Given the description of an element on the screen output the (x, y) to click on. 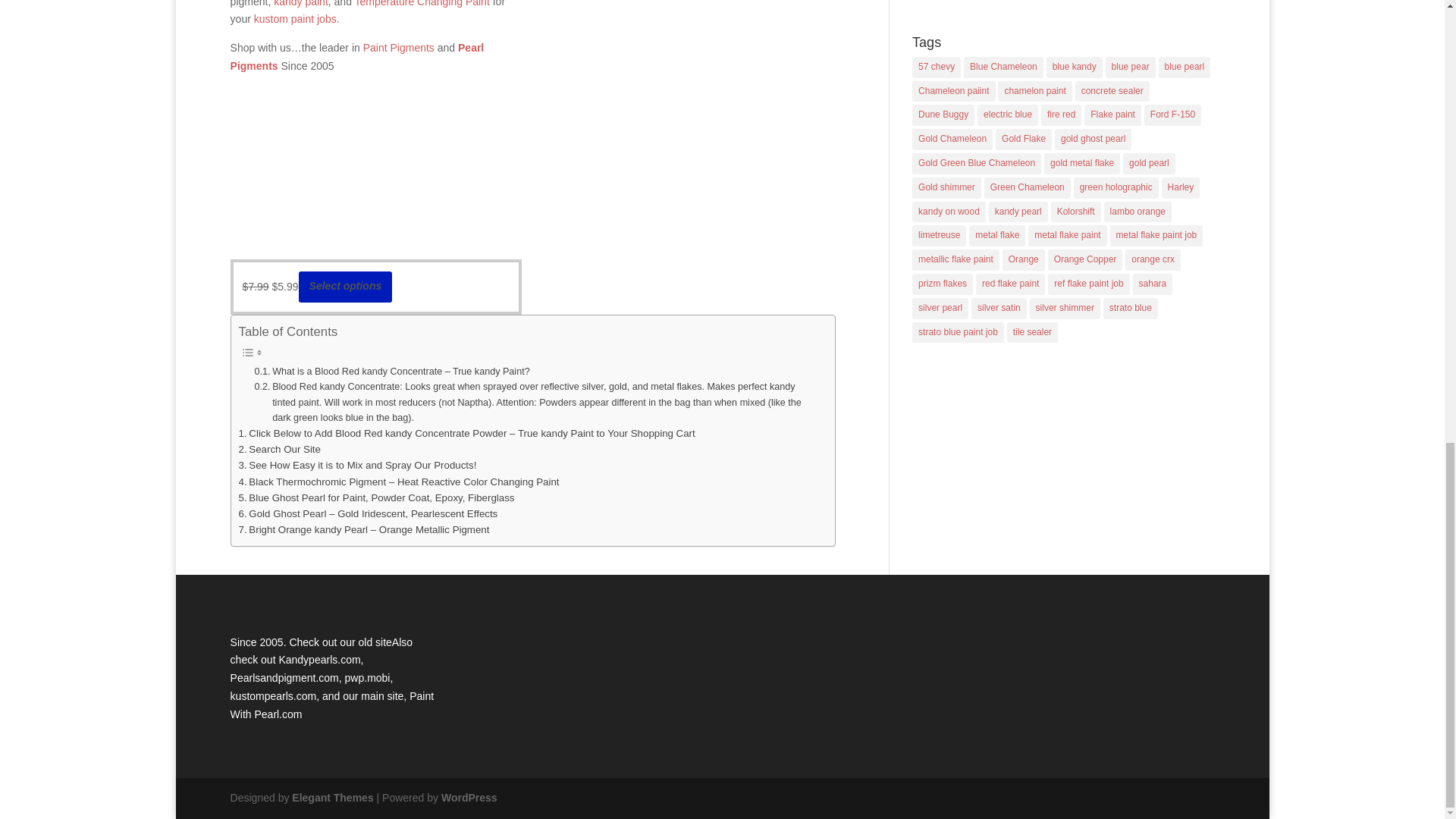
Blue Ghost Pearl for Paint, Powder Coat, Epoxy, Fiberglass (376, 497)
See How Easy it is to Mix and Spray Our Products! (357, 465)
Search Our Site (279, 449)
Premium WordPress Themes (332, 797)
